Given the description of an element on the screen output the (x, y) to click on. 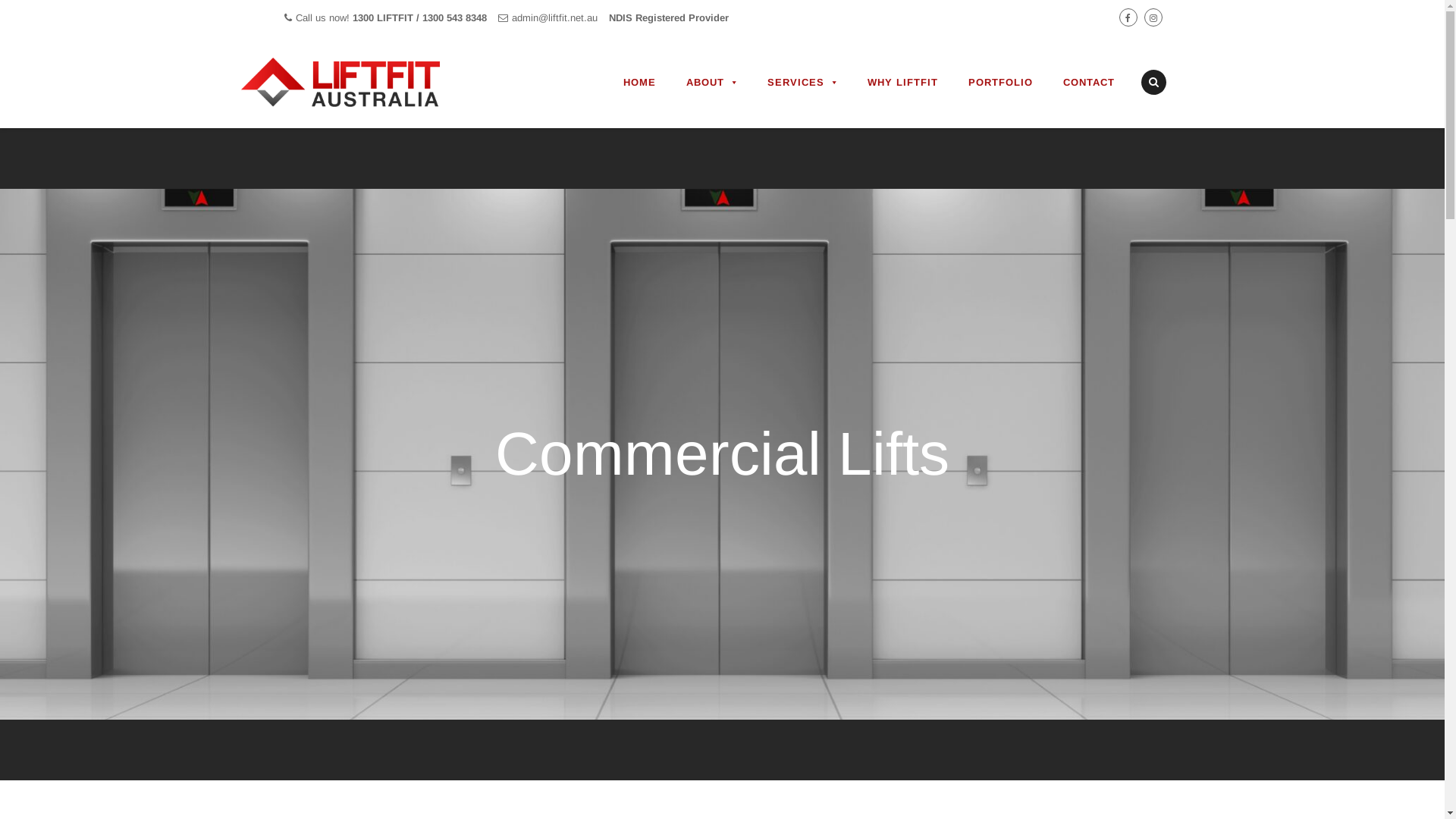
Skip to content Element type: text (606, 34)
Lift Fit Element type: hover (359, 81)
ABOUT Element type: text (710, 82)
Dot Digital Element type: text (758, 791)
PORTFOLIO Element type: text (999, 82)
CONTACT Element type: text (1088, 82)
Commercial Lifts Element type: text (558, 638)
SERVICES Element type: text (802, 82)
Residential Lifts Element type: text (556, 601)
admin@liftfit.net.au Element type: text (798, 627)
Industrial Lifts Element type: text (551, 675)
Commercial Lifts Element type: text (721, 454)
Lift Fit Element type: text (392, 791)
WHY LIFTFIT Element type: text (902, 82)
HOME Element type: text (639, 82)
admin@liftfit.net.au Element type: text (553, 17)
